Given the description of an element on the screen output the (x, y) to click on. 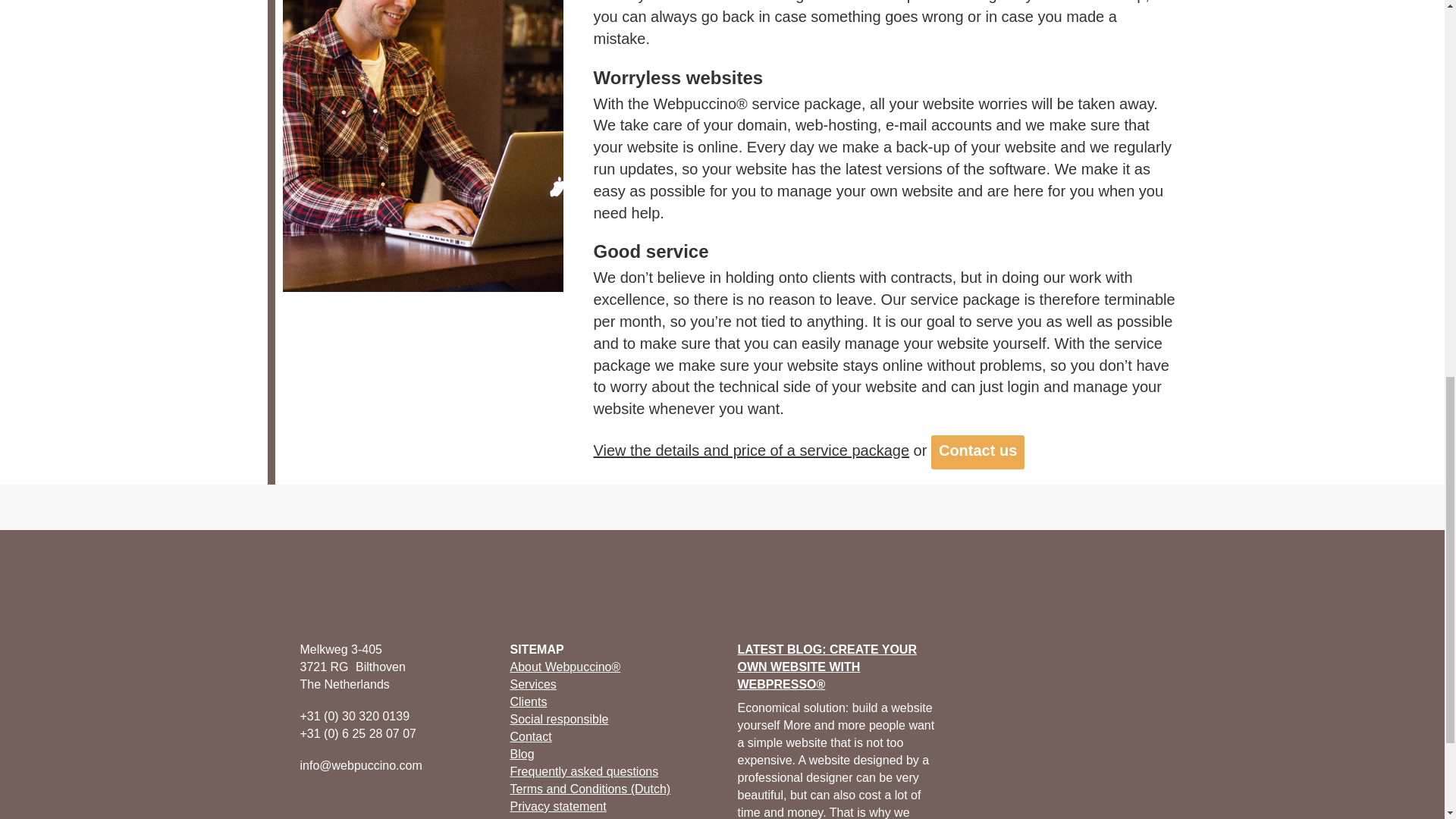
Facebook (275, 805)
E-mail (404, 805)
Clients (528, 701)
Frequently asked questions (583, 771)
Blog (521, 753)
Services (532, 684)
Privacy statement (557, 806)
Contact (530, 736)
Twitter (301, 805)
Phone (378, 805)
